Given the description of an element on the screen output the (x, y) to click on. 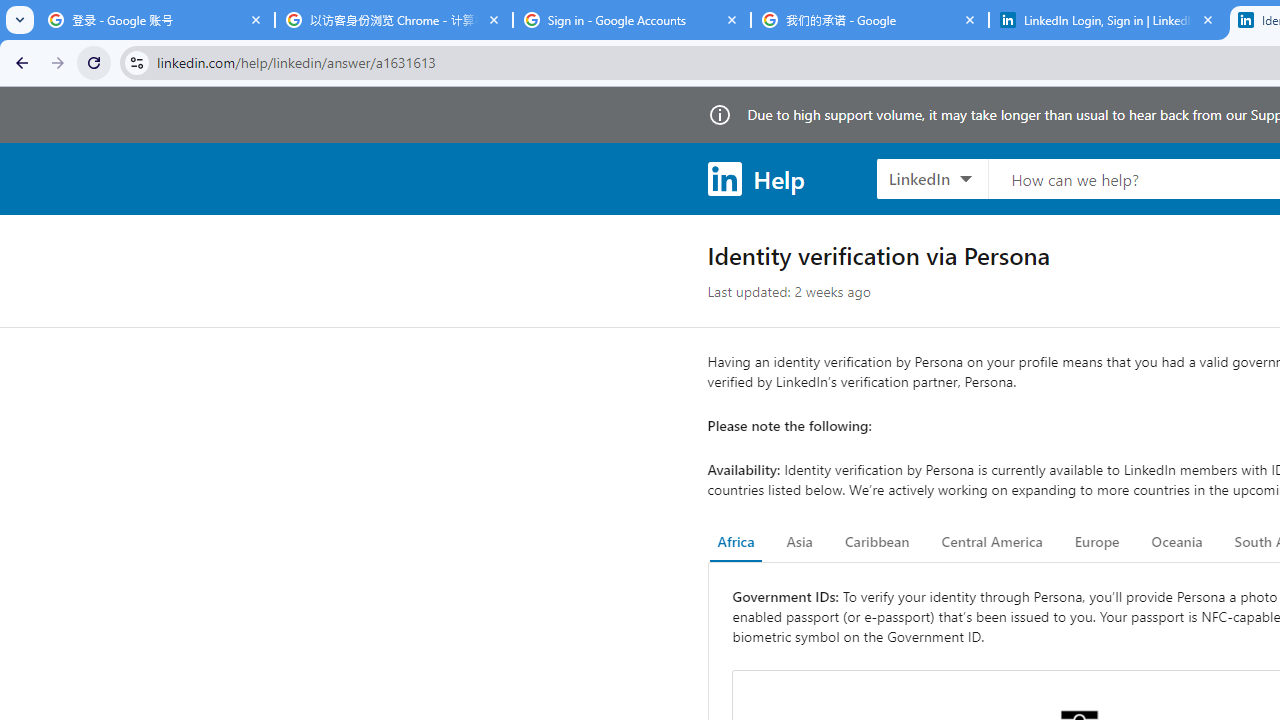
Central America (991, 542)
Africa (735, 542)
